Given the description of an element on the screen output the (x, y) to click on. 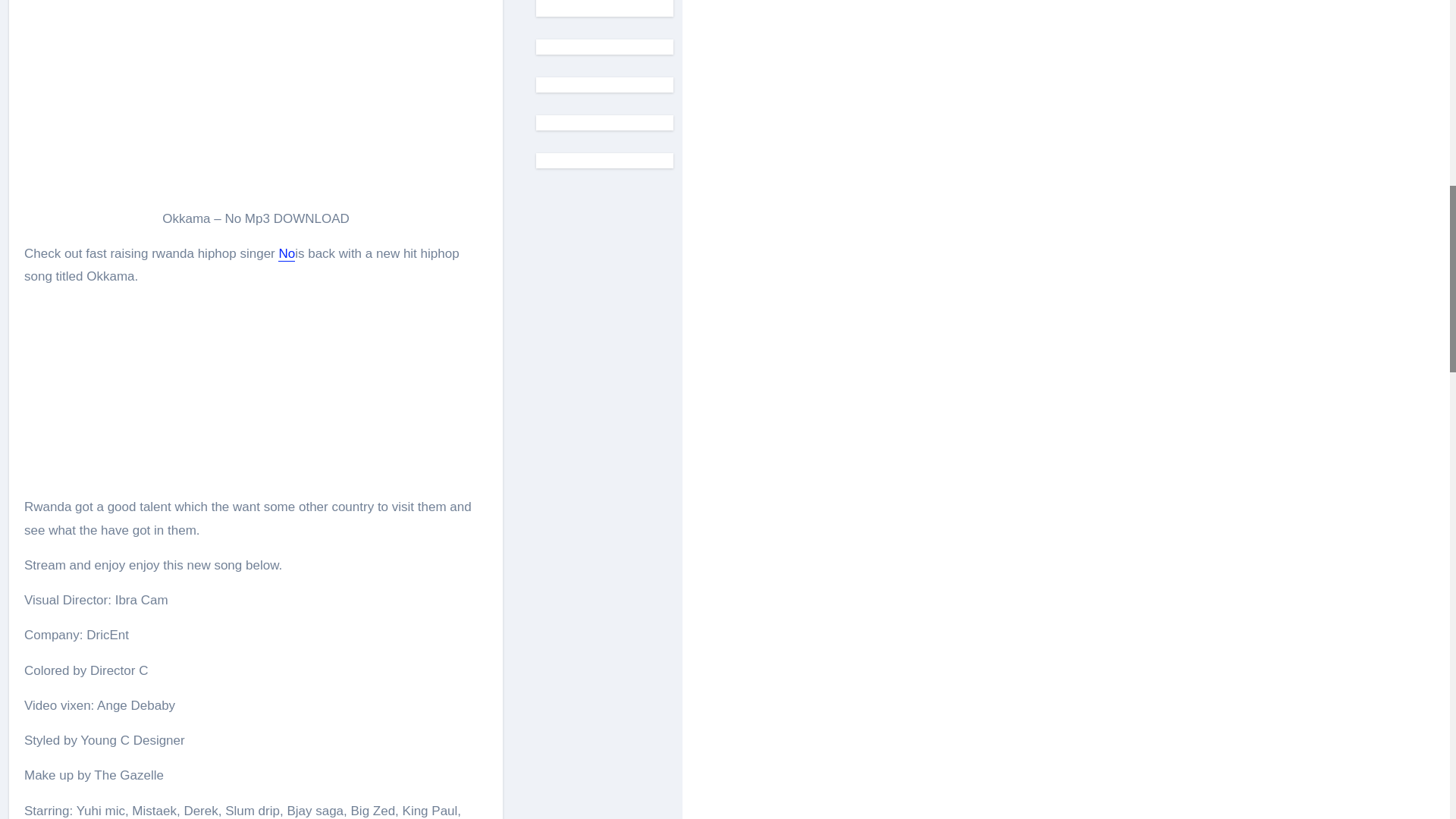
No (286, 253)
